Given the description of an element on the screen output the (x, y) to click on. 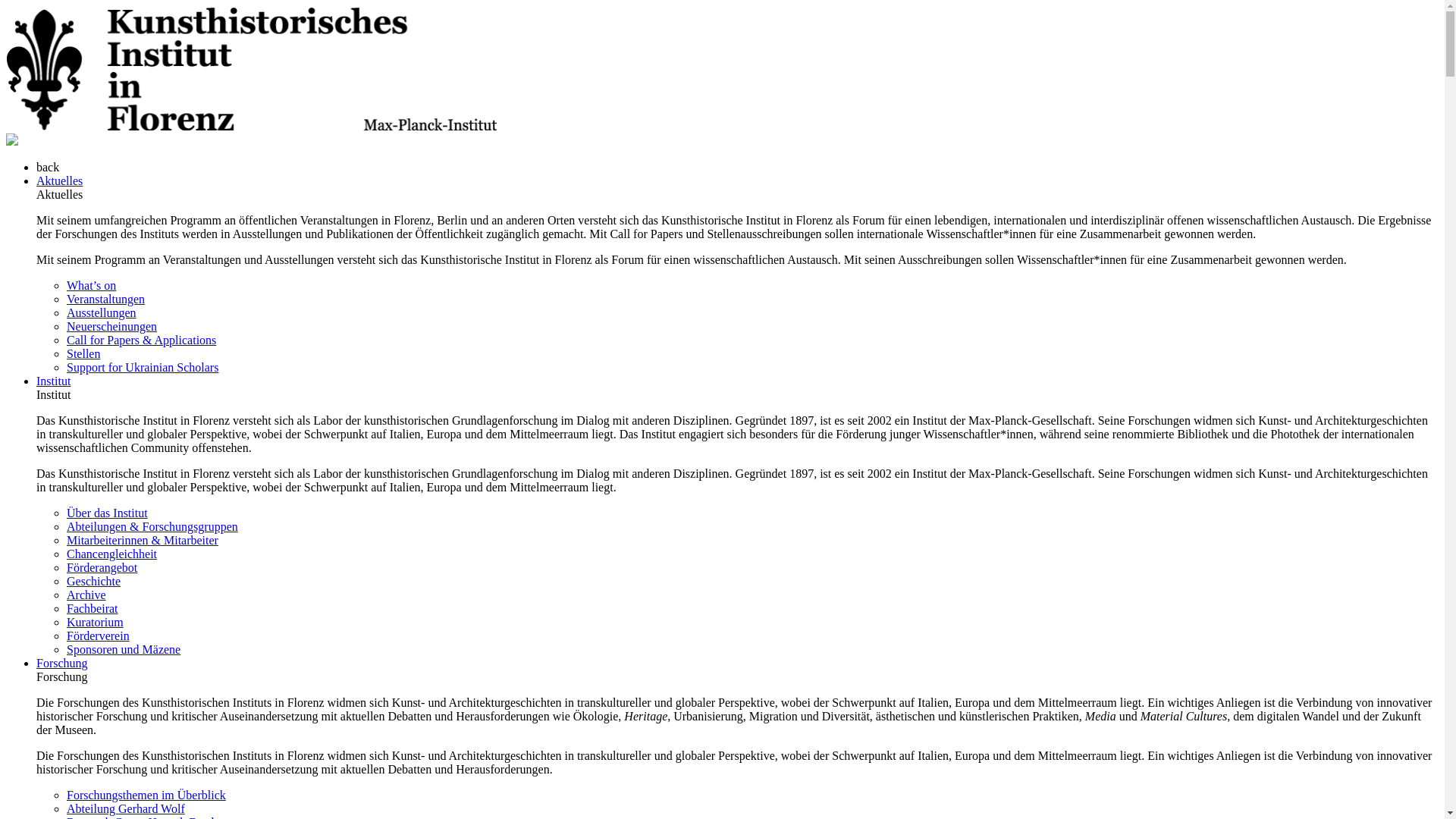
Geschichte (93, 581)
Archive (86, 594)
Forschung (61, 662)
Chancengleichheit (111, 553)
Research Group Hannah Baader (145, 817)
Stellen (83, 353)
Ausstellungen (101, 312)
Veranstaltungen (105, 298)
Neuerscheinungen (111, 326)
Aktuelles (59, 180)
Institut (52, 380)
Support for Ukrainian Scholars (142, 367)
Abteilung Gerhard Wolf (125, 808)
Kuratorium (94, 621)
Fachbeirat (91, 608)
